Given the description of an element on the screen output the (x, y) to click on. 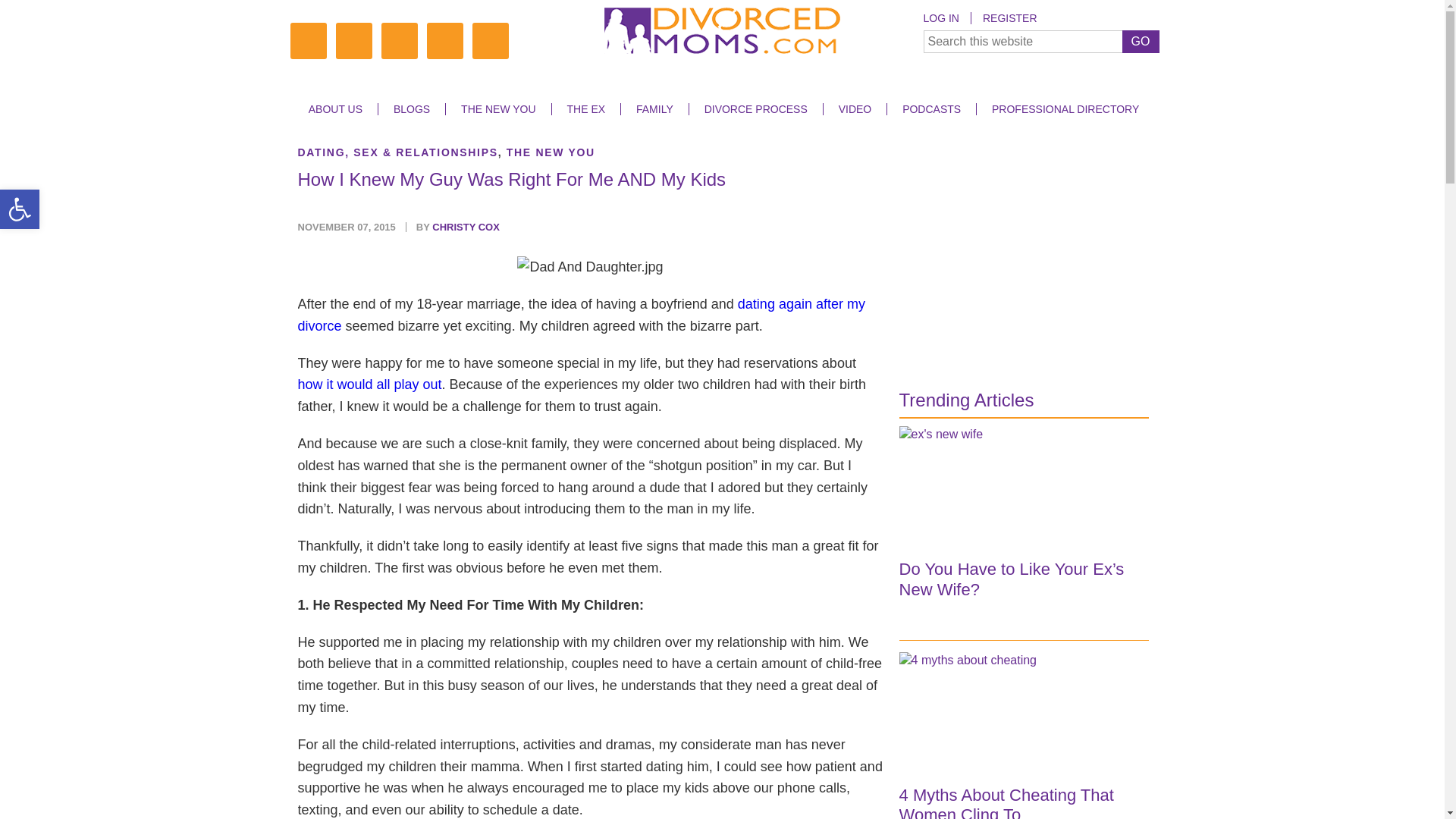
Accessibility Tools (19, 209)
Search Website (1040, 41)
REGISTER (1009, 18)
BLOGS (411, 109)
Divorced Moms (721, 33)
LOG IN (947, 18)
ABOUT US (335, 109)
THE NEW YOU (498, 109)
FAMILY (654, 109)
THE EX (585, 109)
Open toolbar (19, 209)
GO (1140, 41)
GO (1140, 41)
GO (1140, 41)
